Given the description of an element on the screen output the (x, y) to click on. 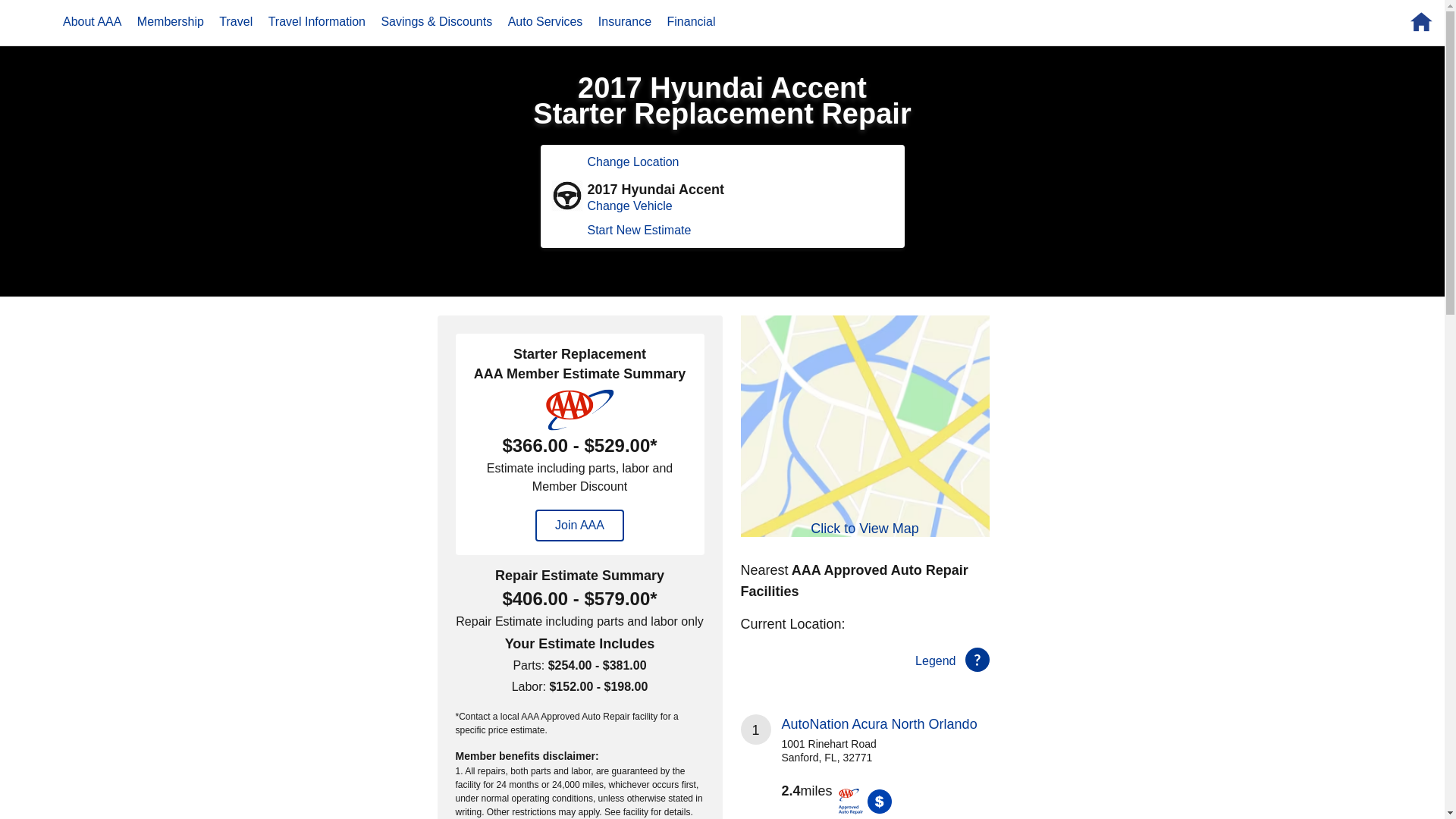
Change Vehicle (628, 205)
Membership (170, 21)
Join AAA (579, 525)
Travel (235, 21)
Auto Services (545, 21)
Insurance (625, 21)
Change Location (632, 161)
About AAA (92, 21)
Travel Information (316, 21)
Start New Estimate (638, 229)
Financial (691, 21)
